Given the description of an element on the screen output the (x, y) to click on. 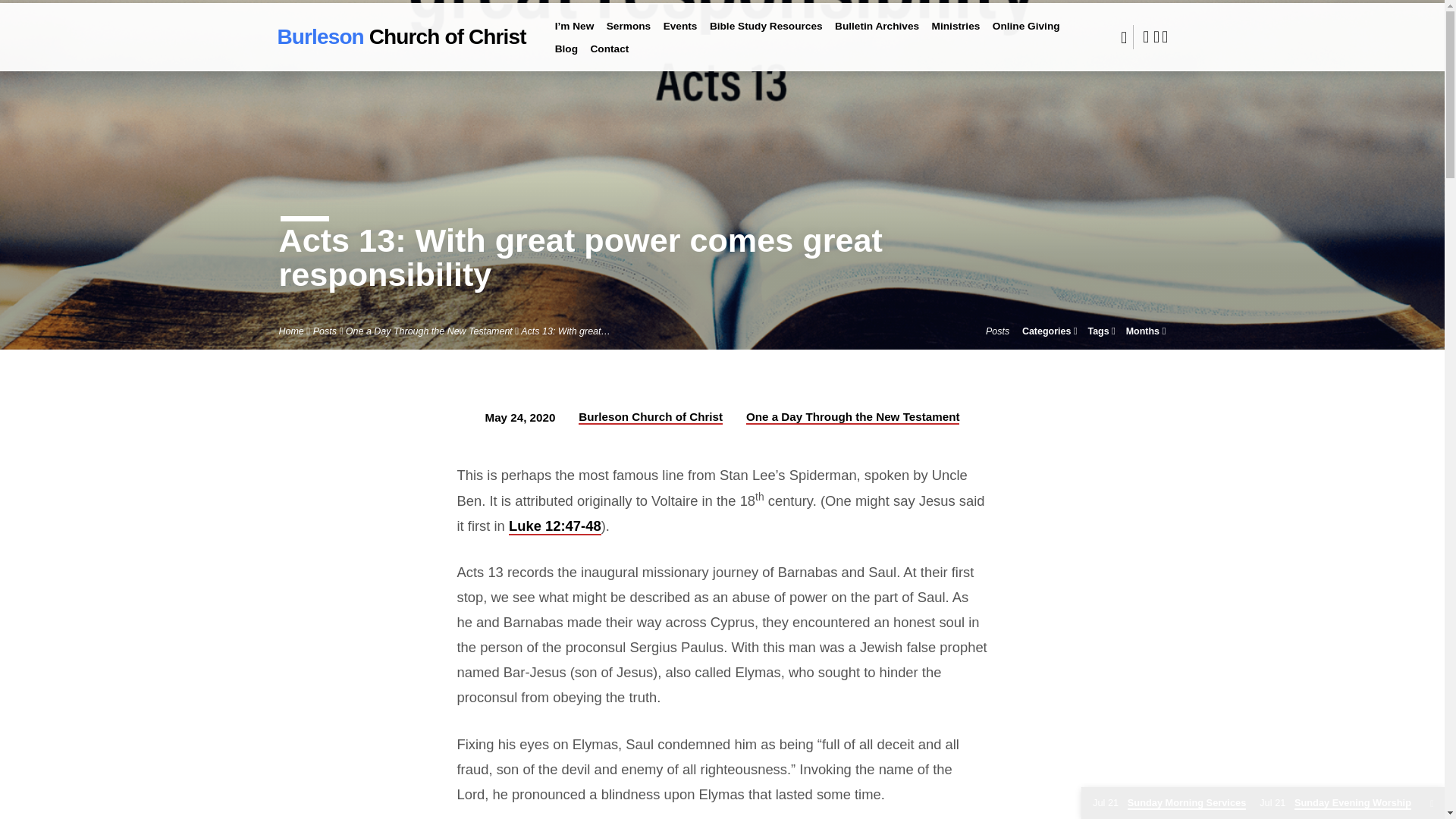
Burleson Church of Christ (401, 36)
Bible Study Resources (766, 33)
Events (680, 33)
Posts (324, 330)
Online Giving (1025, 33)
Contact (608, 56)
Bulletin Archives (876, 33)
Sermons (628, 33)
Ministries (955, 33)
Home (291, 330)
